Given the description of an element on the screen output the (x, y) to click on. 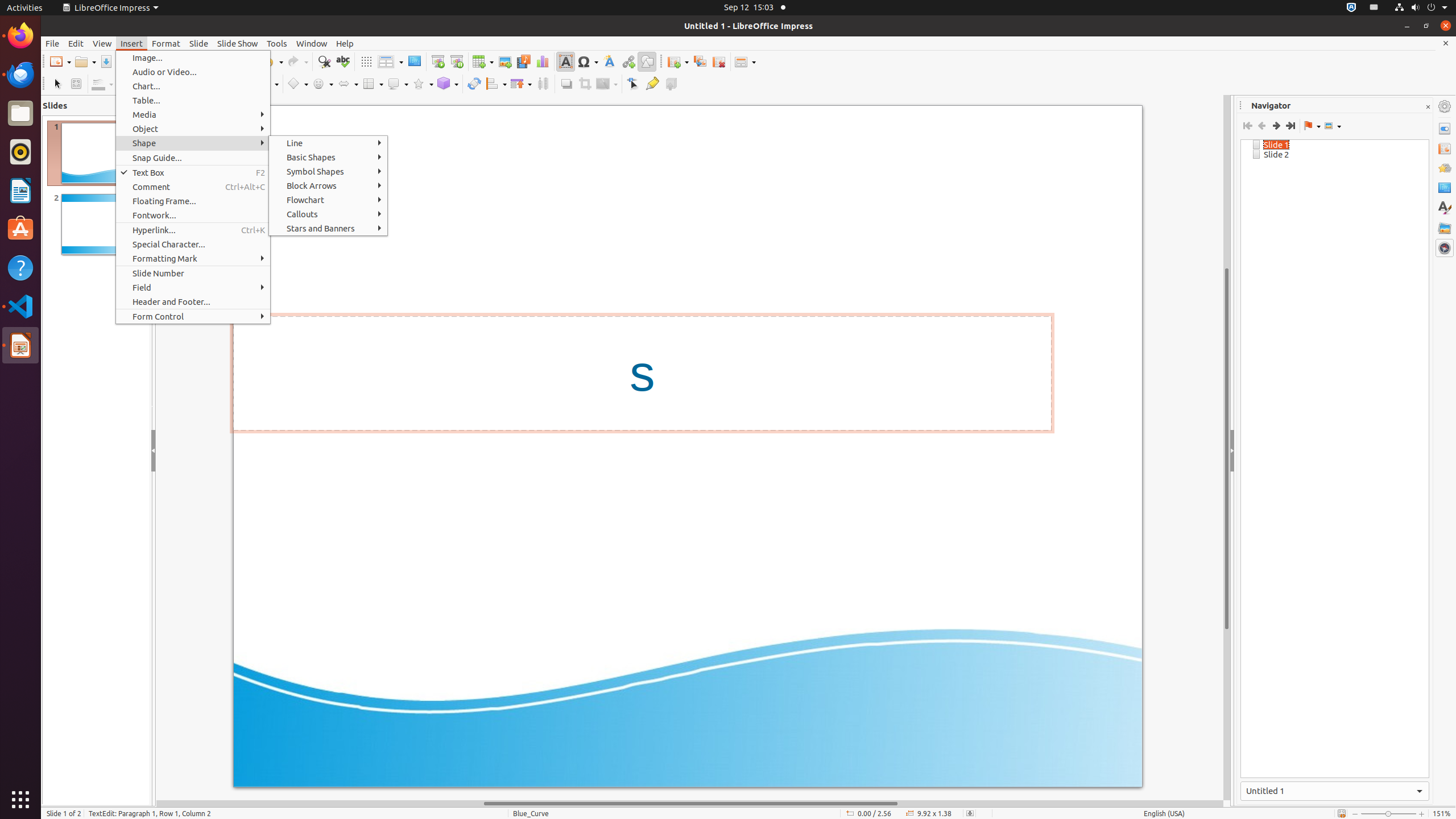
:1.21/StatusNotifierItem Element type: menu (1373, 7)
Edit Element type: menu (75, 43)
File Element type: menu (51, 43)
Format Element type: menu (165, 43)
Visual Studio Code Element type: push-button (20, 306)
